Given the description of an element on the screen output the (x, y) to click on. 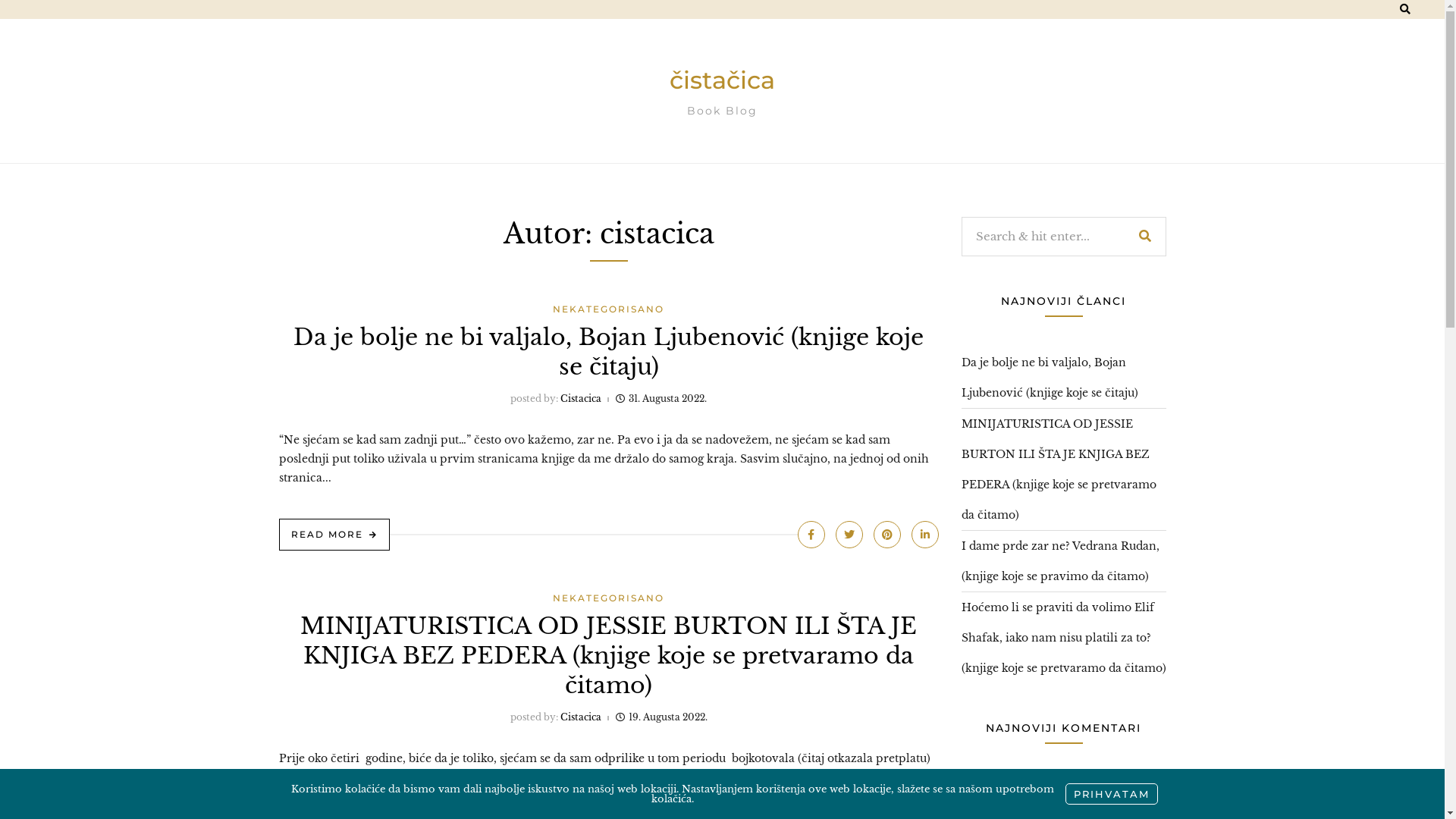
Cistacica Element type: text (580, 398)
PRIHVATAM Element type: text (1110, 793)
READ MORE Element type: text (334, 534)
Click to share this post on Twitter Element type: hover (848, 534)
NEKATEGORISANO Element type: text (608, 597)
NEKATEGORISANO Element type: text (608, 308)
Cistacica Element type: text (579, 716)
